Given the description of an element on the screen output the (x, y) to click on. 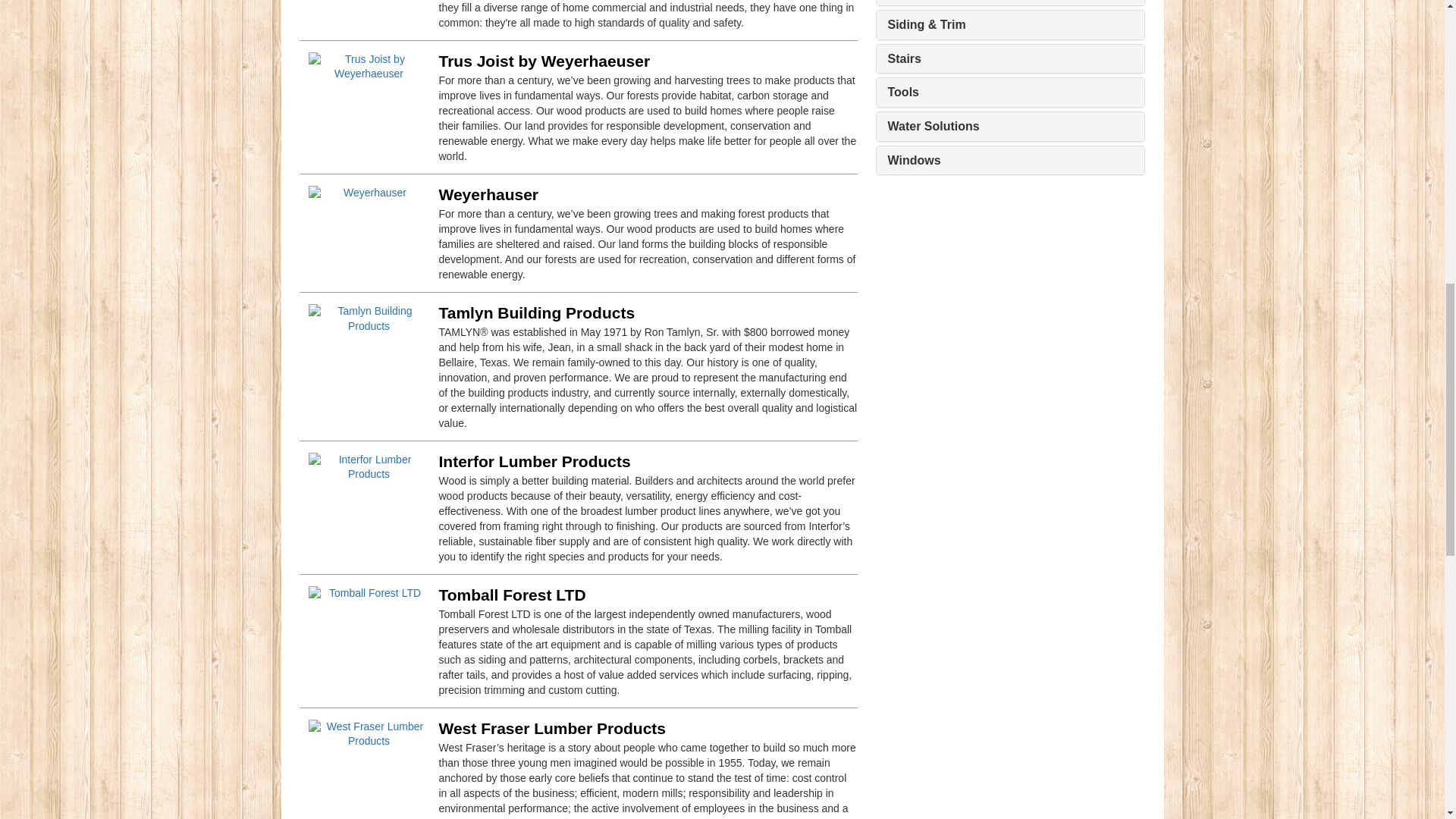
Tomball Forest LTD (511, 593)
Trus Joist by Weyerhaeuser (543, 59)
Tamlyn Building Products (536, 312)
Weyerhauser (488, 193)
West Fraser Lumber Products (551, 727)
Interfor Lumber Products (534, 460)
